Given the description of an element on the screen output the (x, y) to click on. 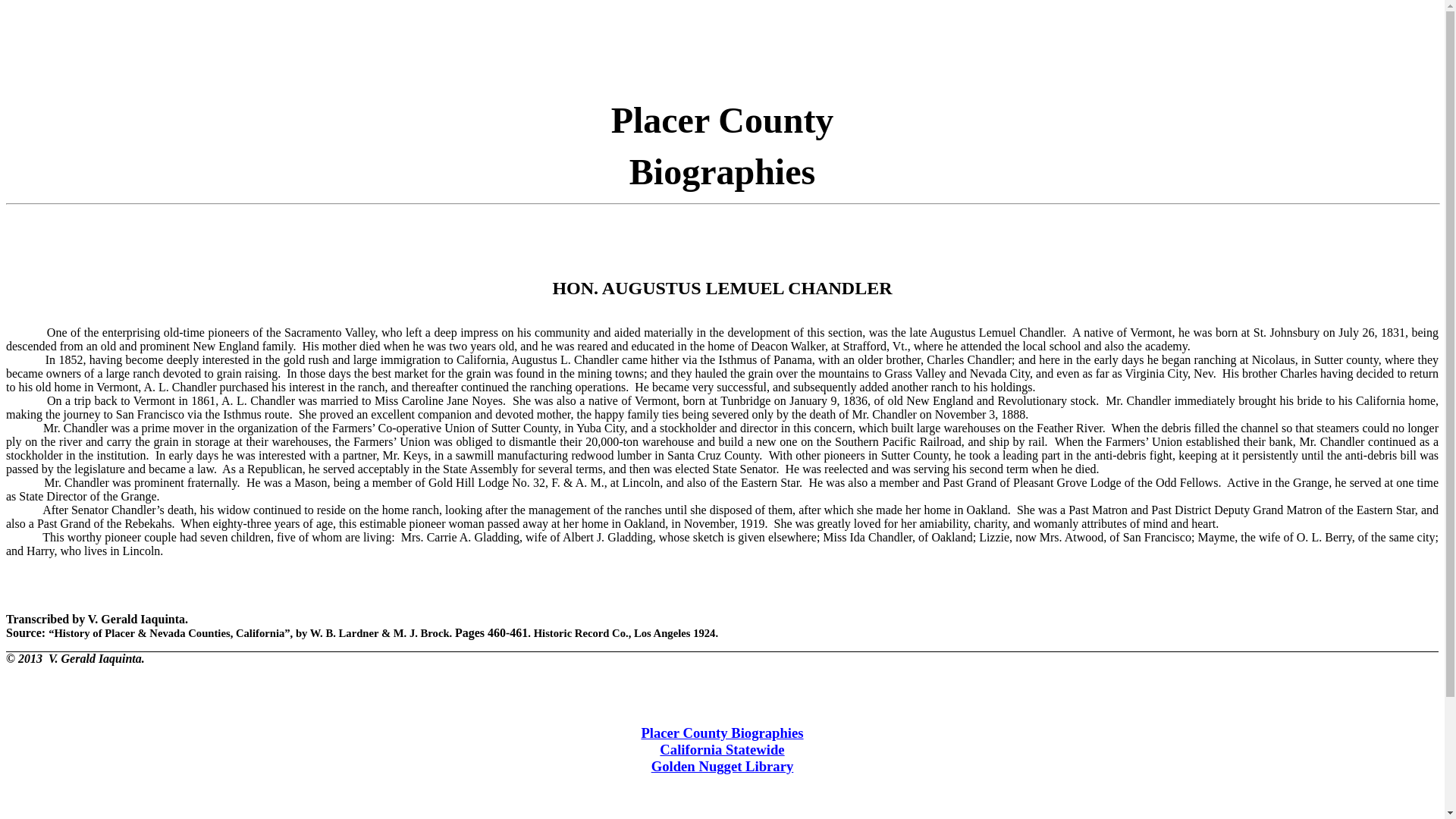
Placer County Biographies (721, 732)
California Statewide (721, 749)
Golden Nugget Library (721, 765)
